Given the description of an element on the screen output the (x, y) to click on. 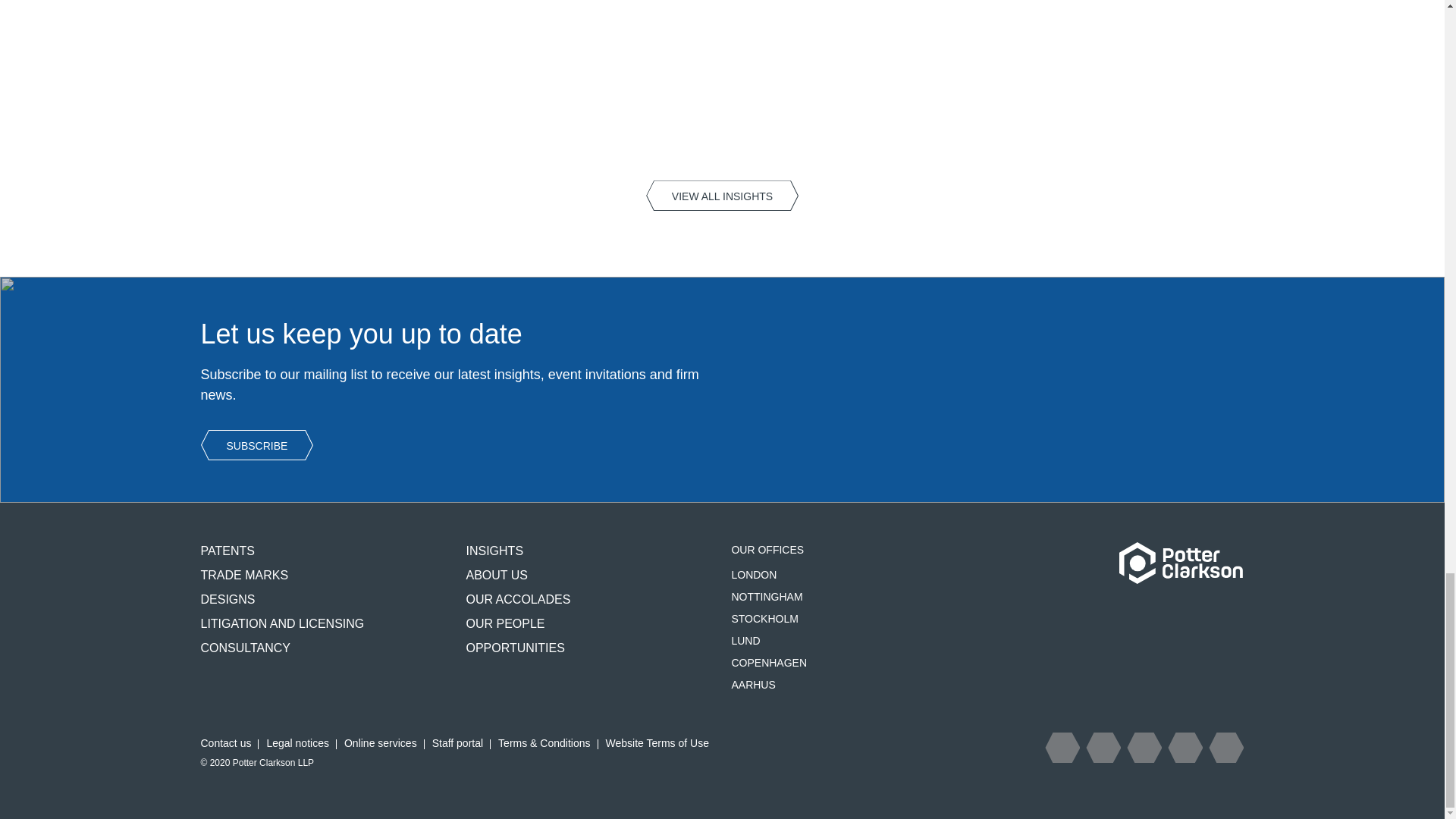
Search. Opens in new tab (1062, 747)
Follow us on Linkedin. Opens in a new tab (1184, 747)
Contact is. Opens in new tab (1225, 747)
Follow us on Instagram. Opens in a new tab (1143, 747)
Follow us on Twitter. Opens in a new tab (1103, 747)
